Given the description of an element on the screen output the (x, y) to click on. 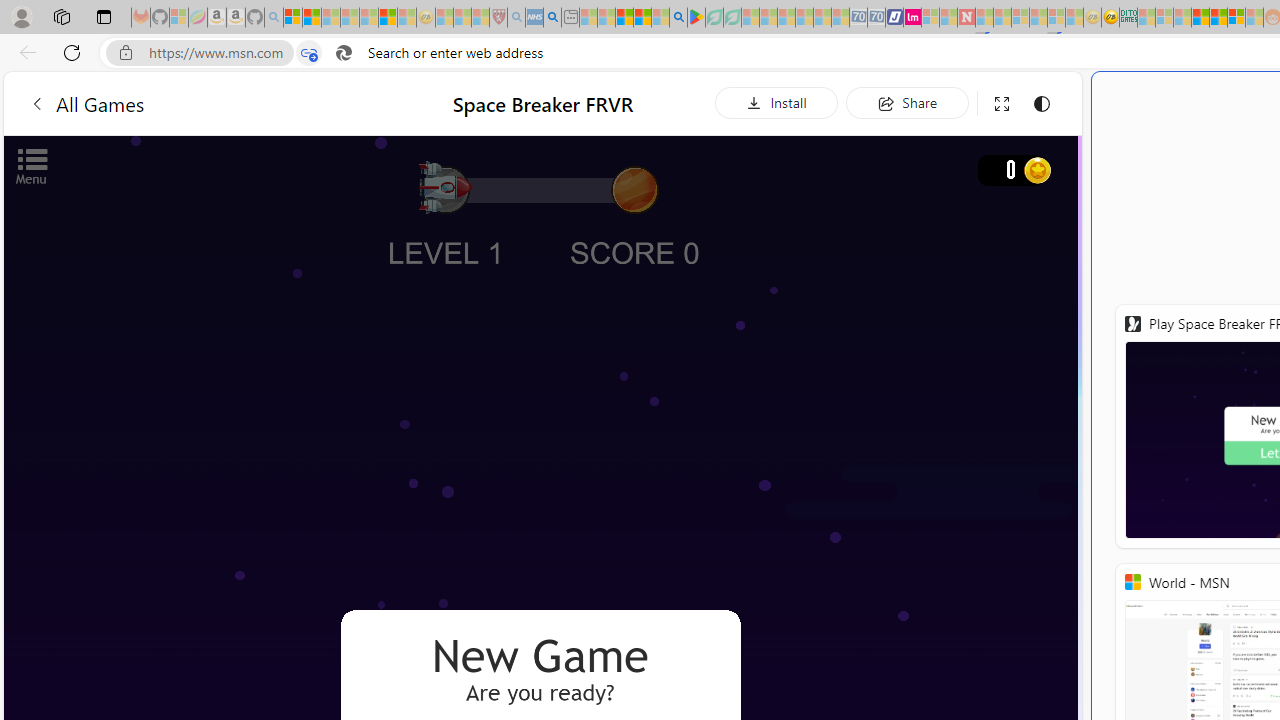
Pets - MSN (642, 17)
Full screen (1002, 103)
Install (775, 102)
Tabs in split screen (308, 53)
Latest Politics News & Archive | Newsweek.com - Sleeping (966, 17)
Search icon (343, 53)
